Given the description of an element on the screen output the (x, y) to click on. 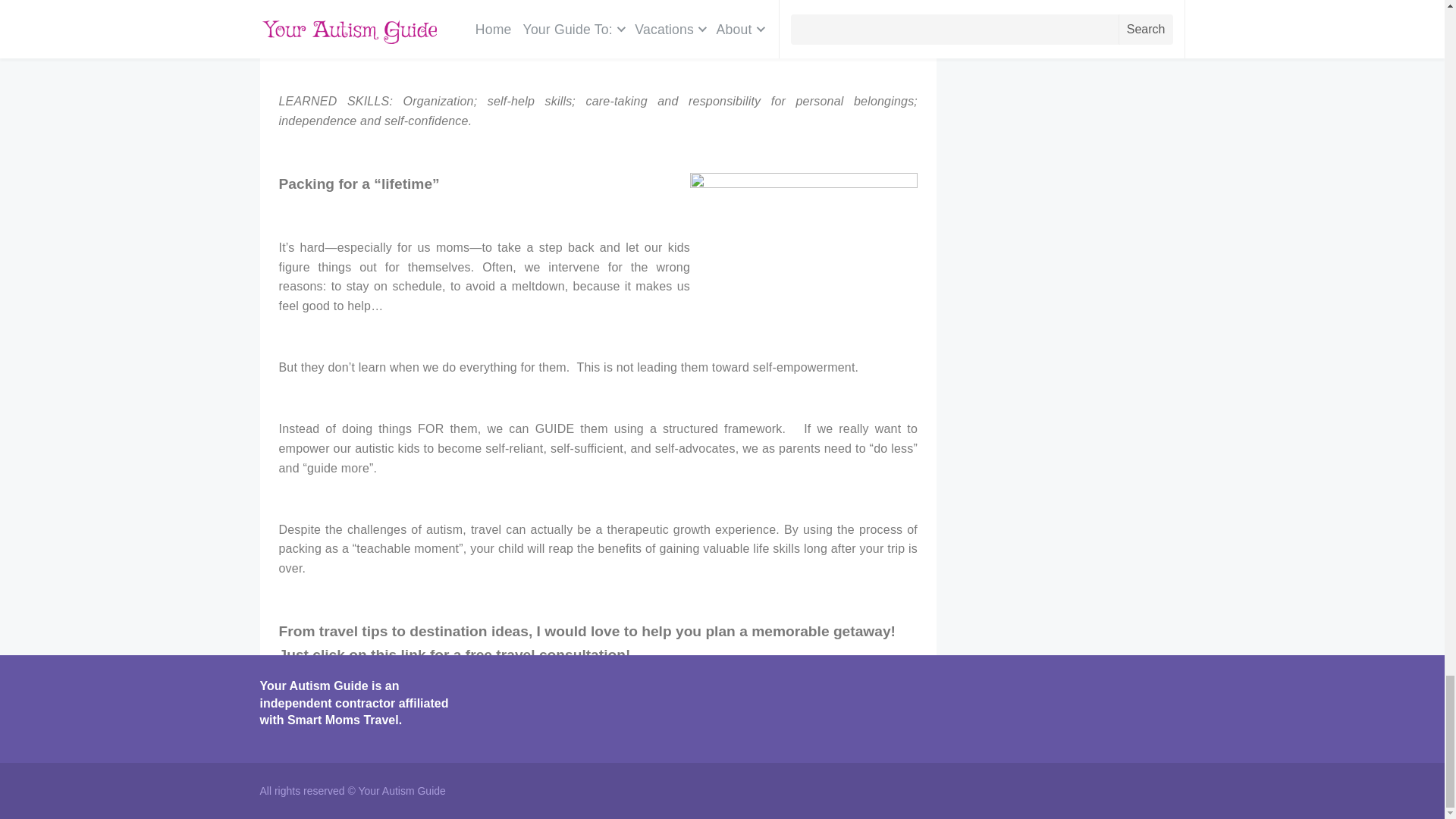
organization (553, 768)
self-sufficiency (824, 768)
autism (315, 768)
packing (608, 768)
tips (324, 779)
travel (352, 779)
guidance (496, 768)
link (413, 654)
teachable moment (591, 773)
problem-solving (671, 768)
executive-functioning skills (402, 768)
Planning (342, 734)
self-advocacy (749, 768)
